Given the description of an element on the screen output the (x, y) to click on. 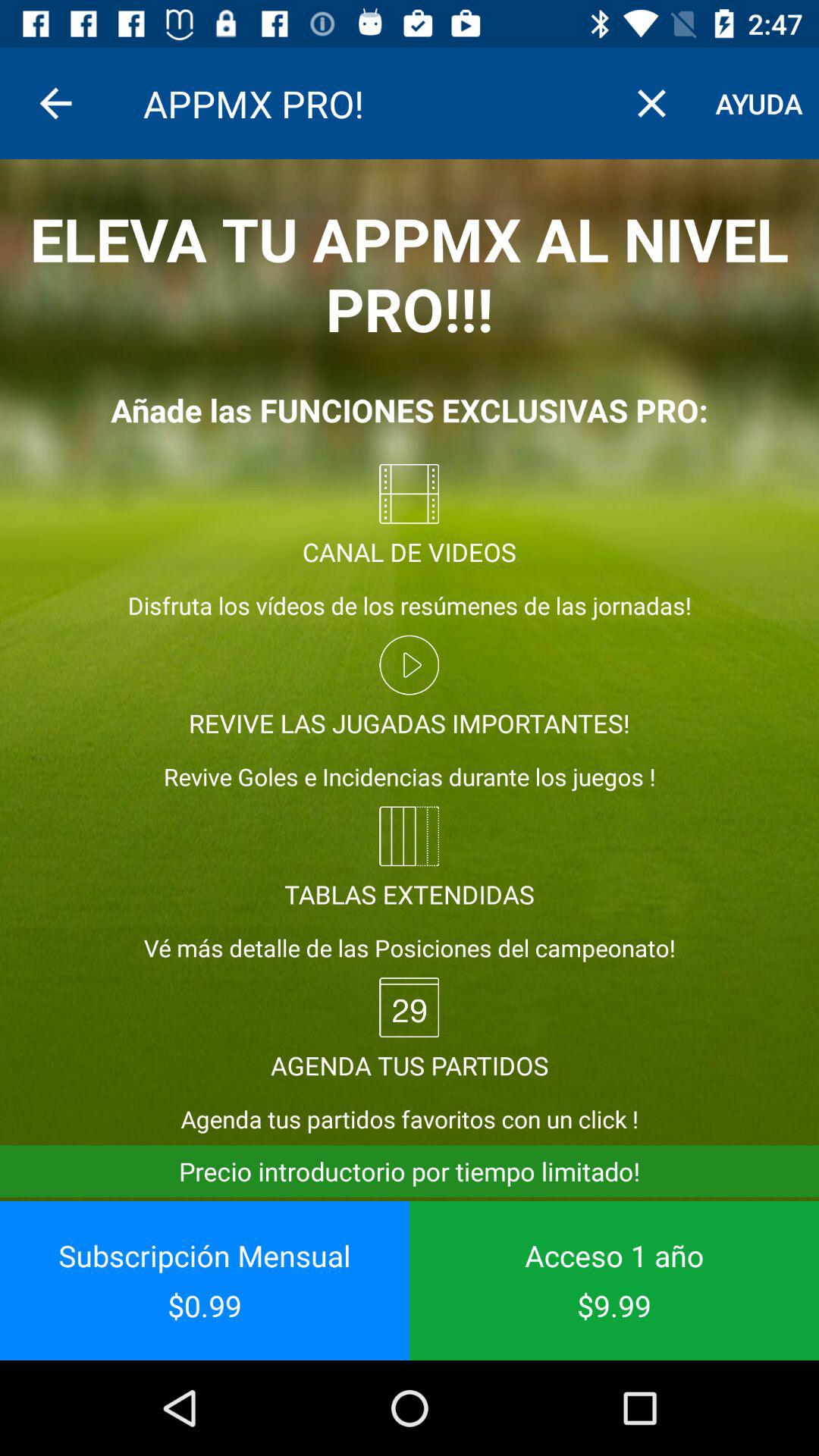
tap the item to the left of the appmx pro! icon (55, 103)
